Given the description of an element on the screen output the (x, y) to click on. 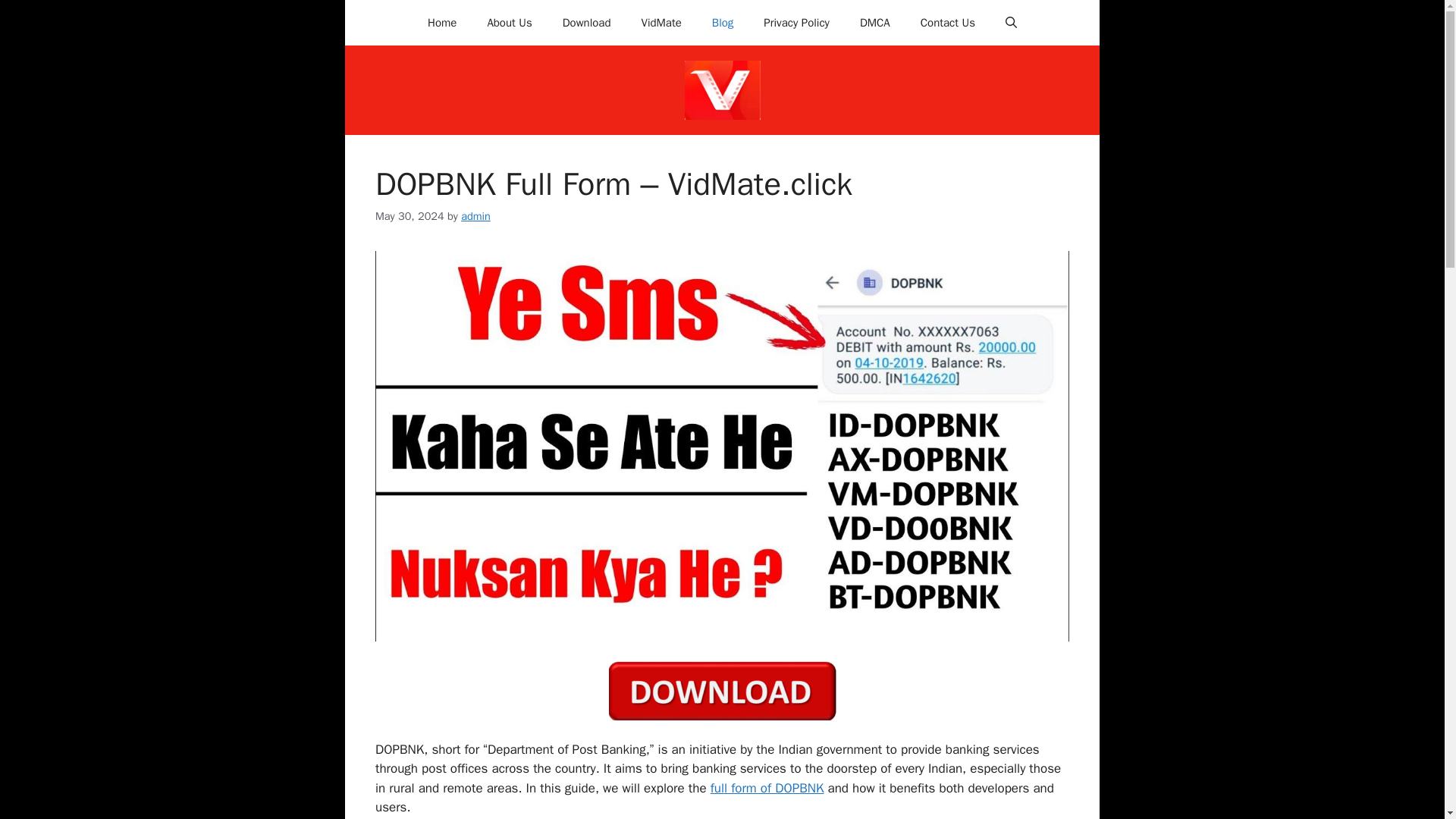
About Us (509, 22)
Home (441, 22)
Download (586, 22)
Contact Us (947, 22)
full form of DOPBNK (767, 787)
admin (475, 215)
Privacy Policy (796, 22)
DMCA (874, 22)
VidMate (661, 22)
Blog (722, 22)
View all posts by admin (475, 215)
